Given the description of an element on the screen output the (x, y) to click on. 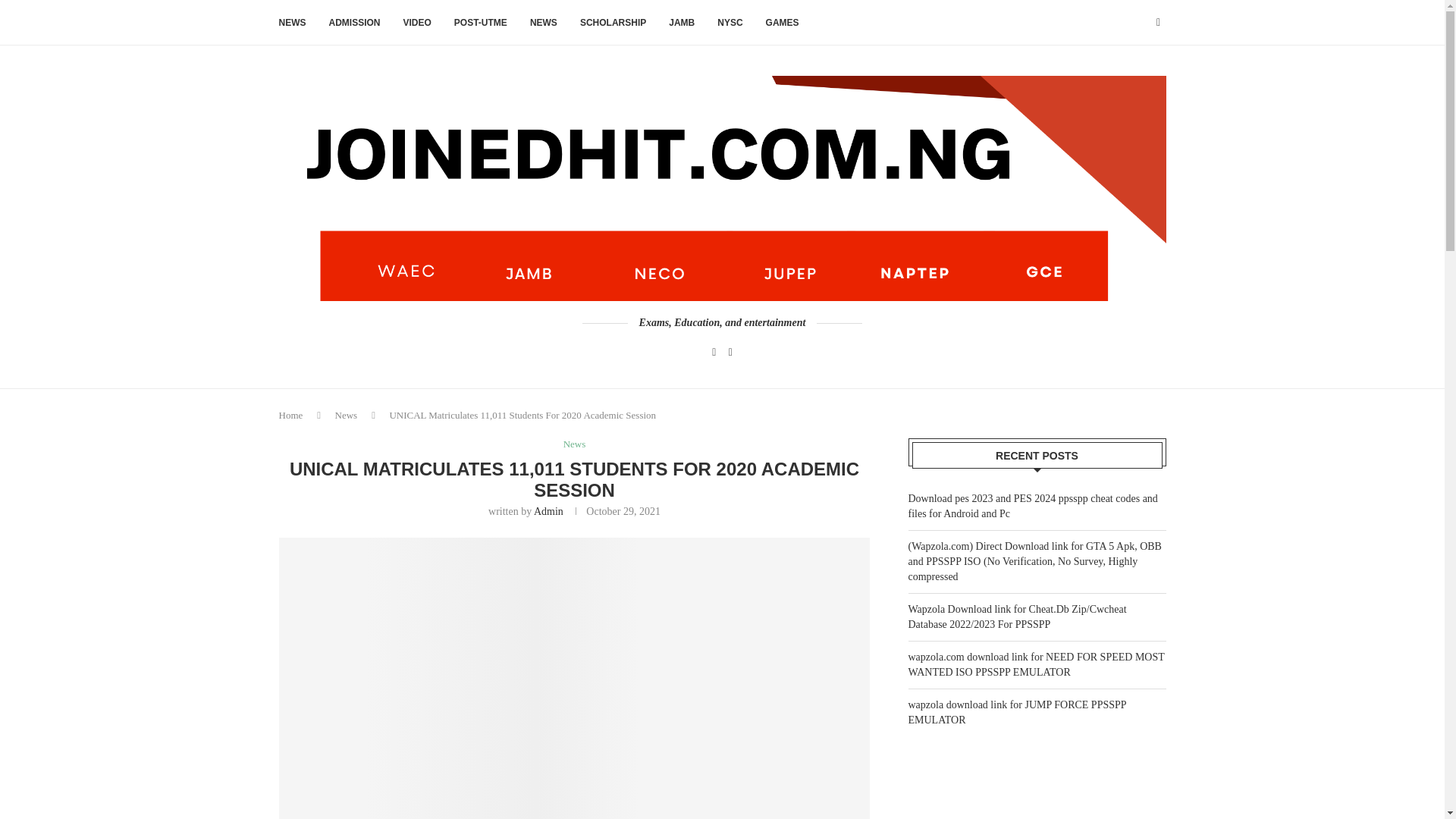
POST-UTME (480, 22)
ADMISSION (354, 22)
Home (290, 414)
Admin (548, 511)
News (574, 444)
News (346, 414)
SCHOLARSHIP (612, 22)
